Given the description of an element on the screen output the (x, y) to click on. 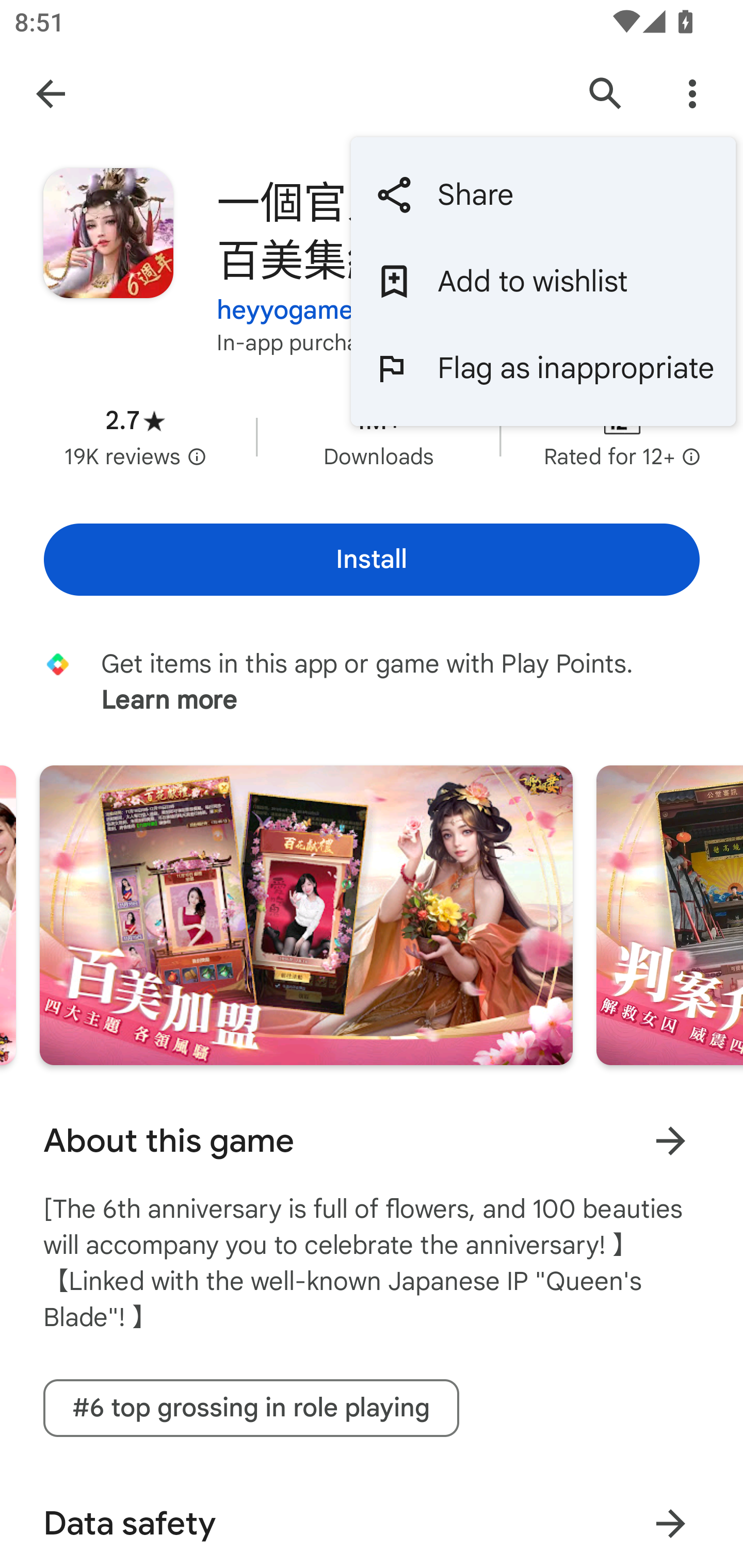
Share (542, 195)
Add to wishlist (542, 281)
Flag as inappropriate (542, 367)
